Given the description of an element on the screen output the (x, y) to click on. 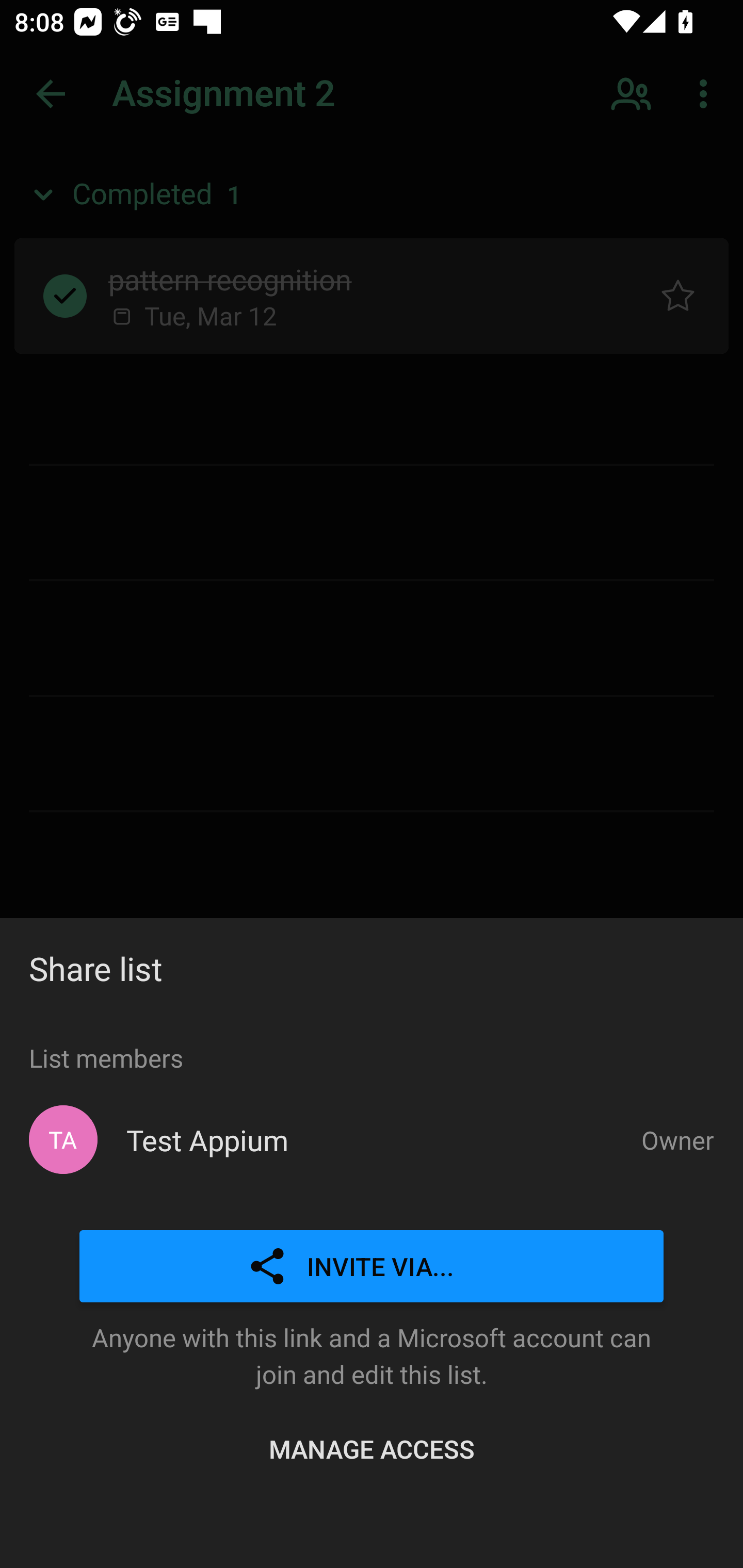
INVITE VIA... (371, 1266)
MANAGE ACCESS (371, 1448)
